Given the description of an element on the screen output the (x, y) to click on. 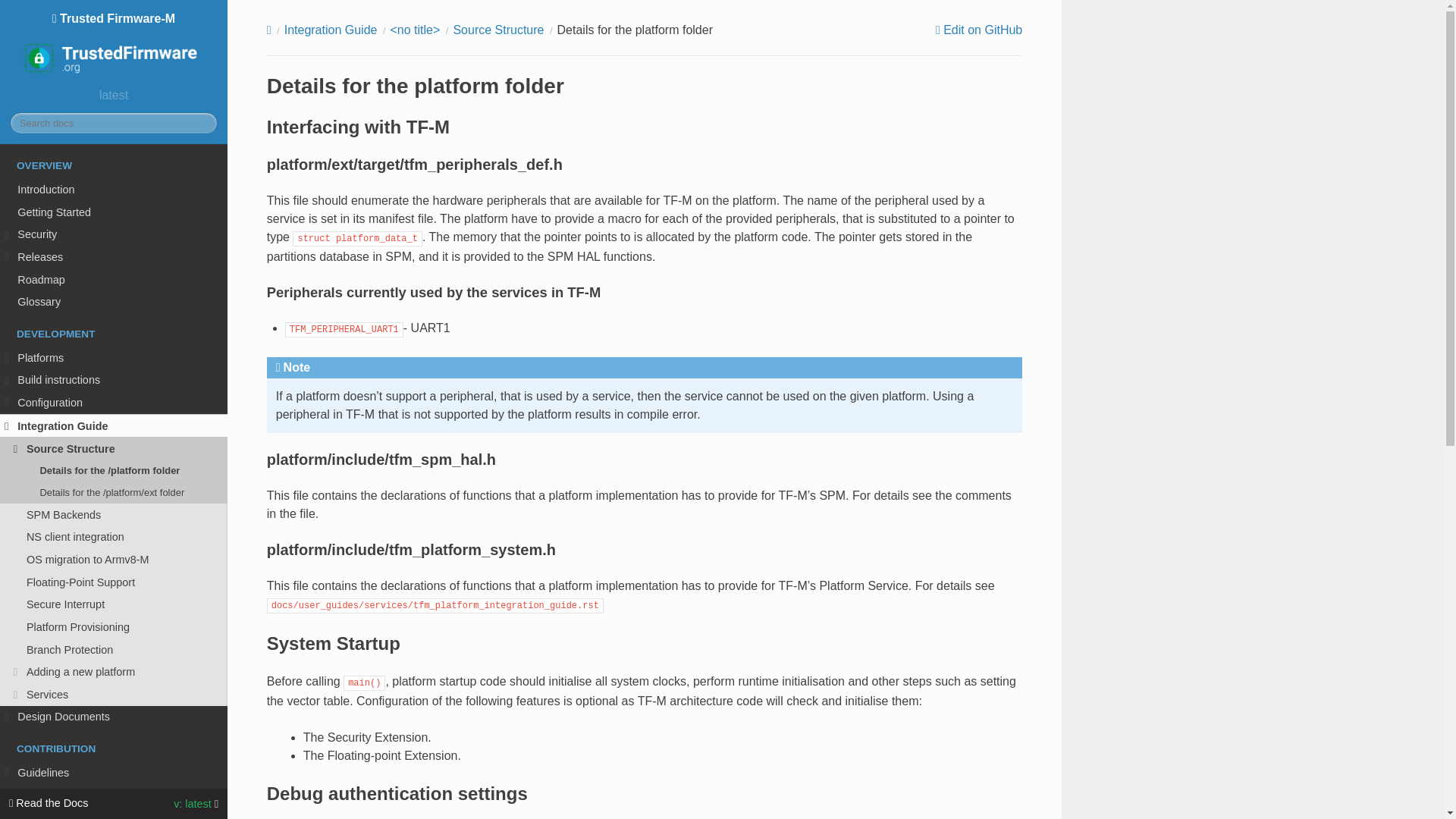
Roadmap (113, 279)
Security (113, 233)
Trusted Firmware-M (113, 46)
Introduction (113, 189)
Getting Started (113, 211)
Releases (113, 256)
Glossary (113, 301)
Platforms (113, 357)
